Given the description of an element on the screen output the (x, y) to click on. 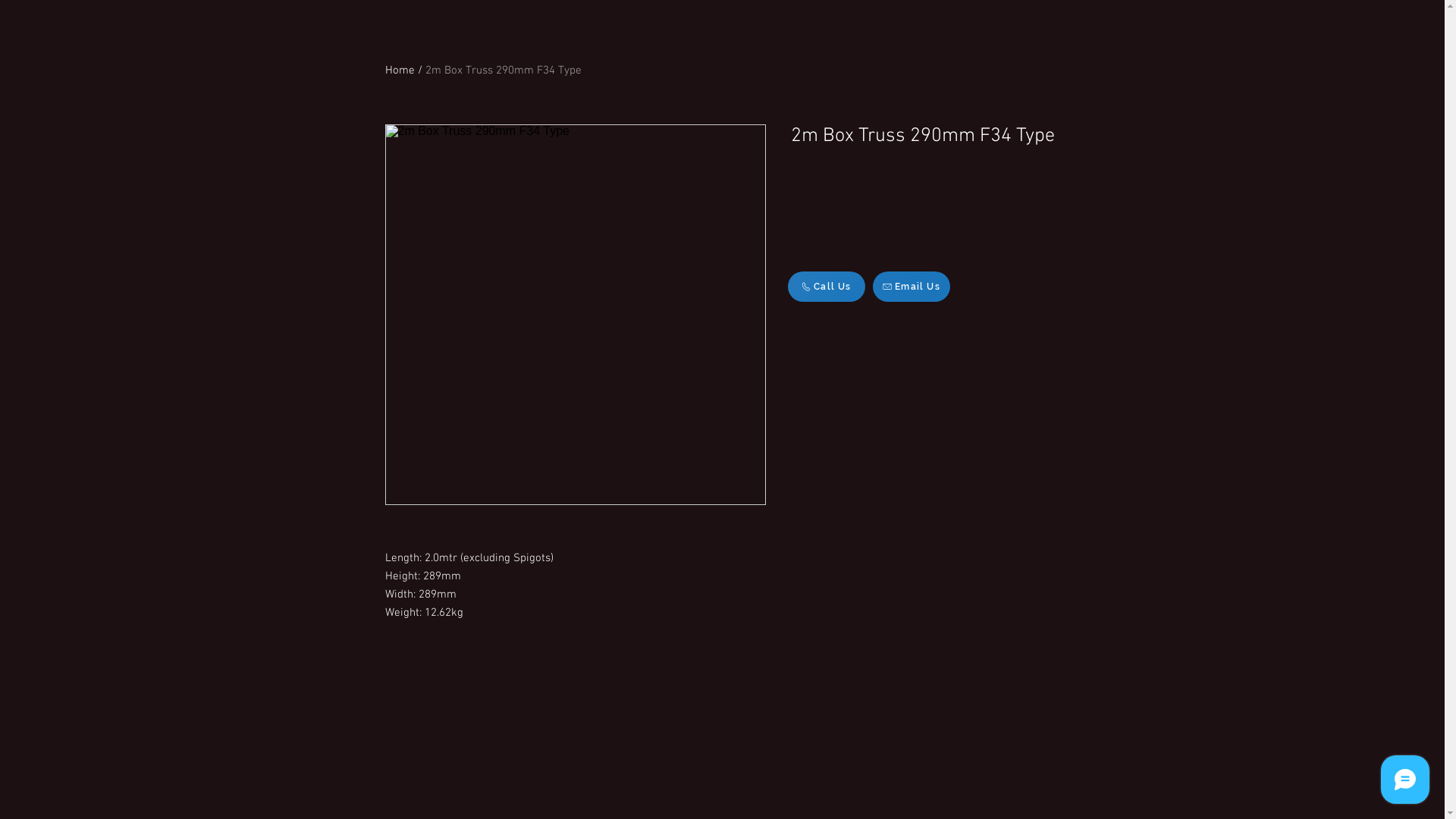
Home Element type: text (399, 70)
Email Us Element type: text (910, 286)
Call Us Element type: text (825, 286)
2m Box Truss 290mm F34 Type Element type: text (502, 70)
